Given the description of an element on the screen output the (x, y) to click on. 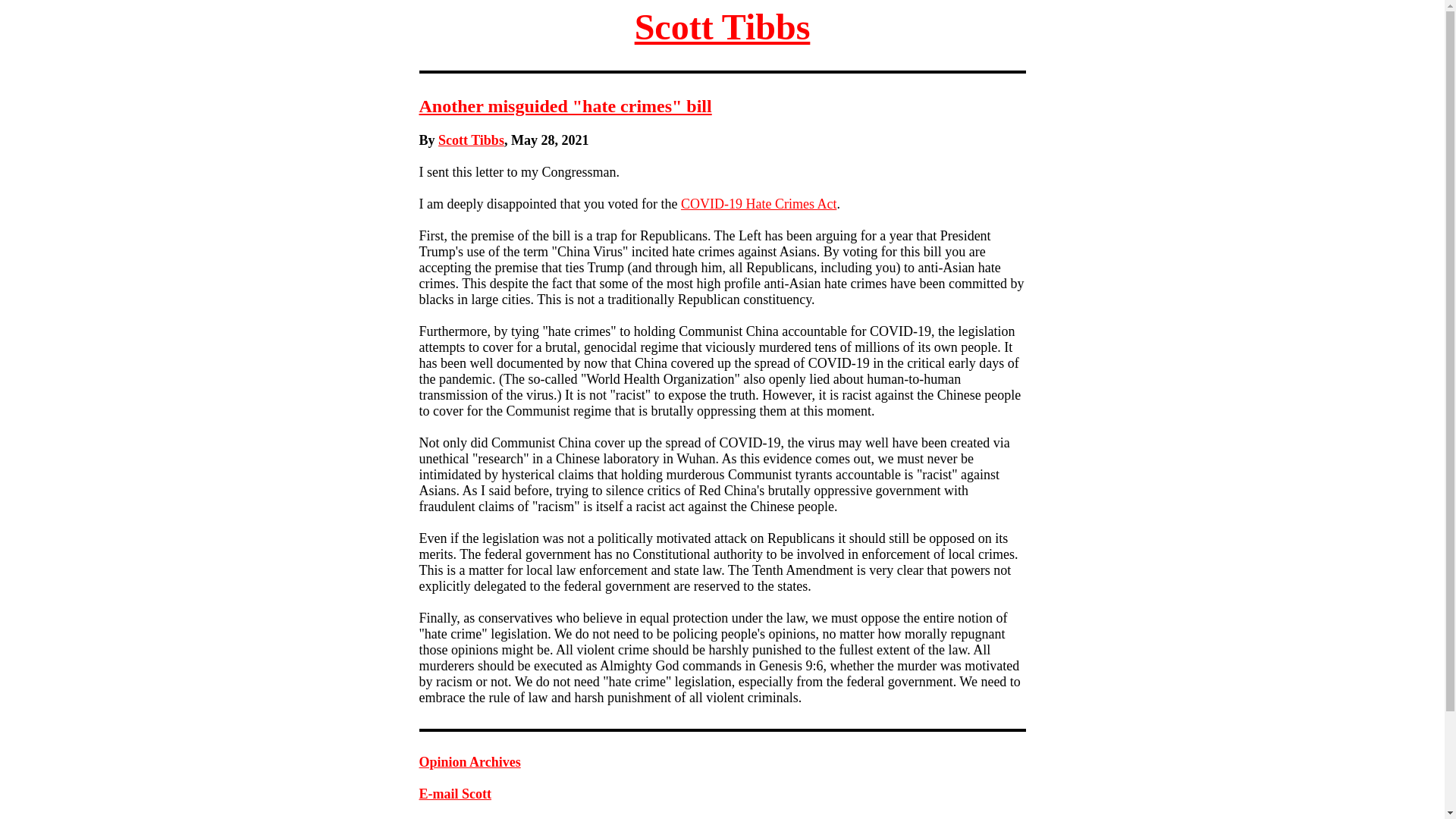
Scott Tibbs (470, 140)
COVID-19 Hate Crimes Act (758, 203)
Another misguided "hate crimes" bill (565, 106)
E-mail Scott (454, 793)
Scott Tibbs (722, 26)
Opinion Archives (469, 761)
